Given the description of an element on the screen output the (x, y) to click on. 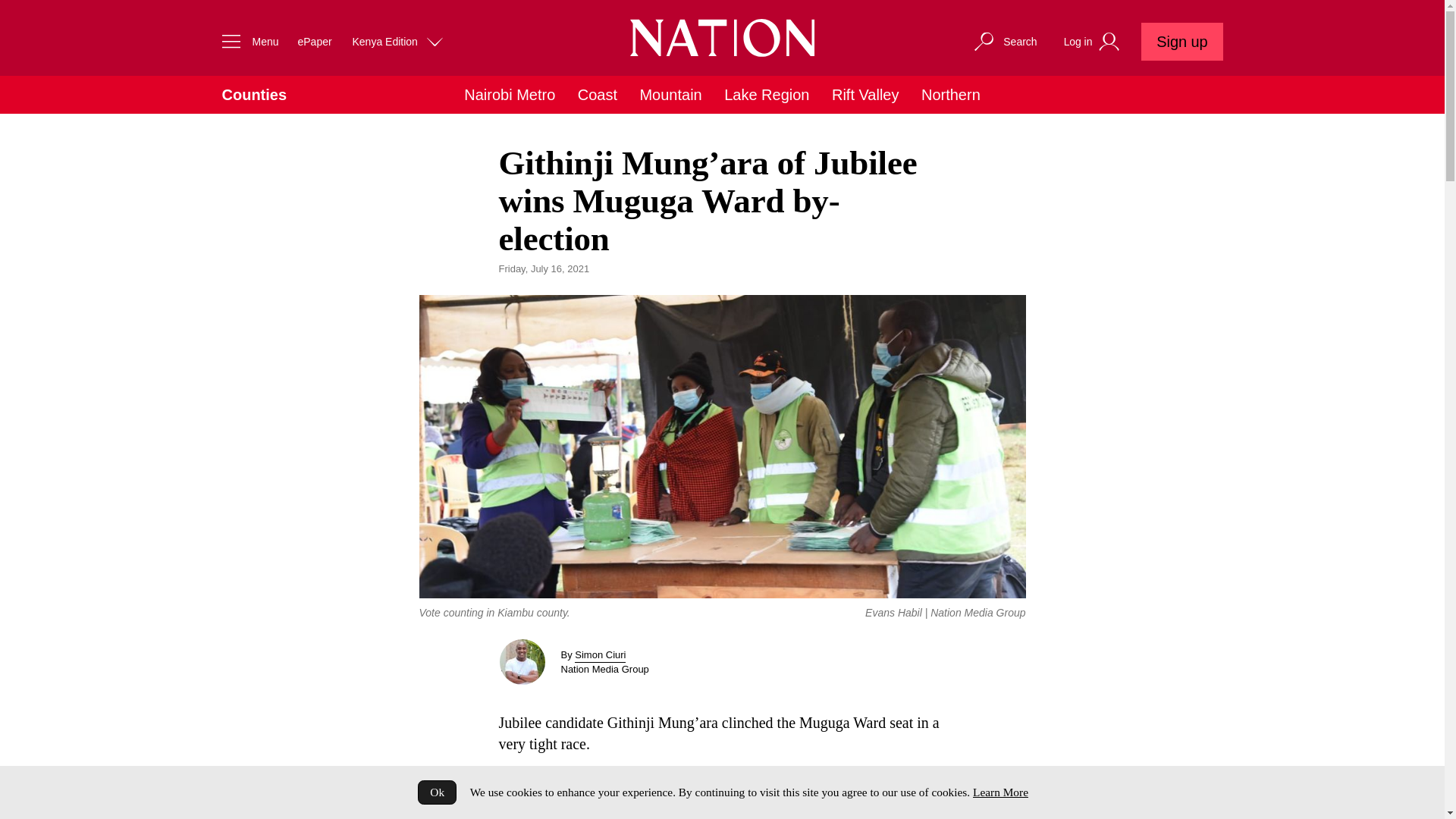
Nairobi Metro (509, 94)
Coast (597, 94)
Sign up (1182, 41)
Search (1003, 41)
ePaper (314, 41)
Mountain (670, 94)
Learn More (999, 791)
Ok (437, 792)
Menu (246, 41)
Lake Region (766, 94)
Northern (950, 94)
Rift Valley (865, 94)
Log in (1094, 41)
Counties (253, 94)
Learn More (999, 791)
